Given the description of an element on the screen output the (x, y) to click on. 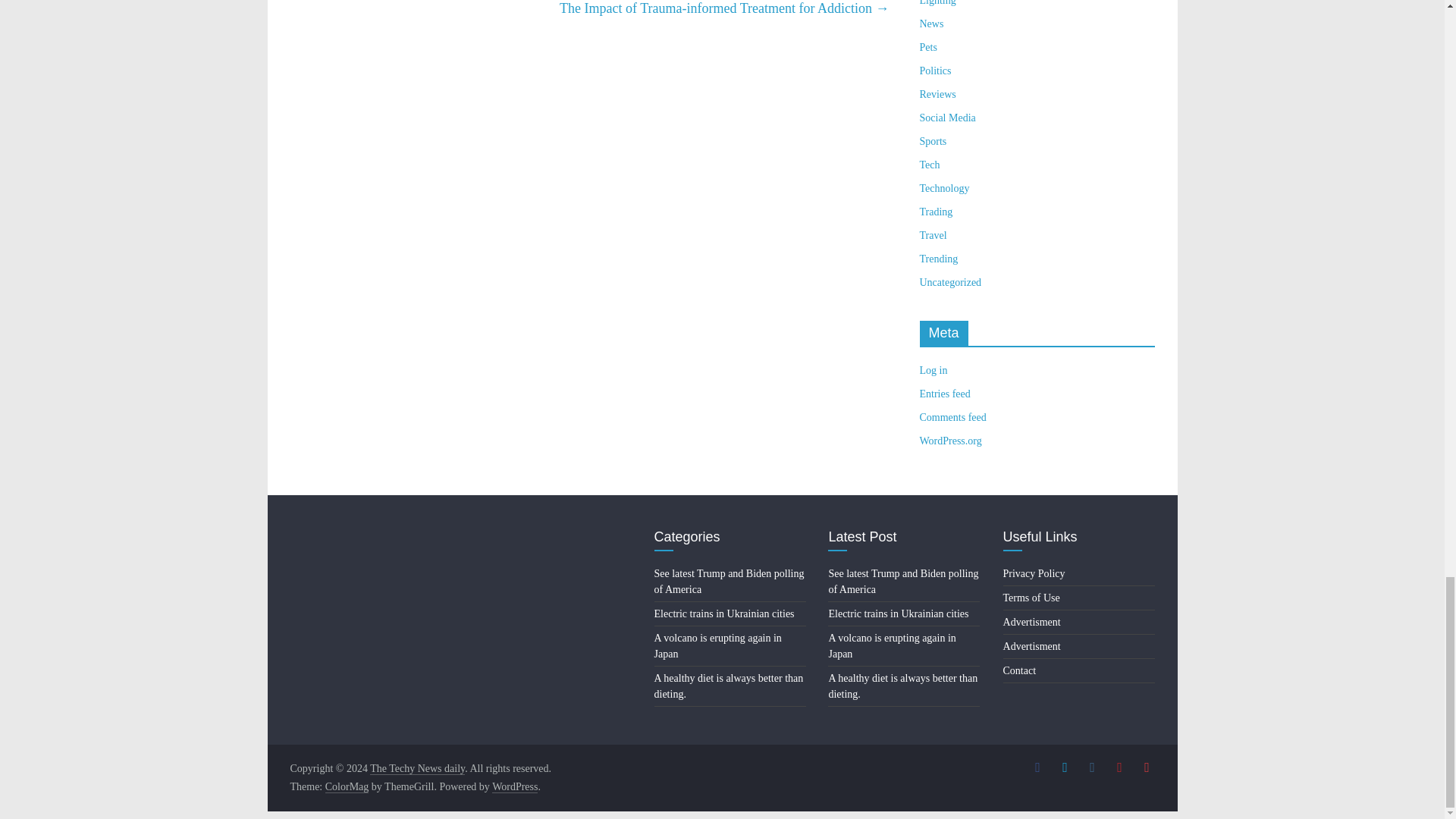
The Techy News daily (416, 768)
ColorMag (346, 787)
WordPress (514, 787)
